Given the description of an element on the screen output the (x, y) to click on. 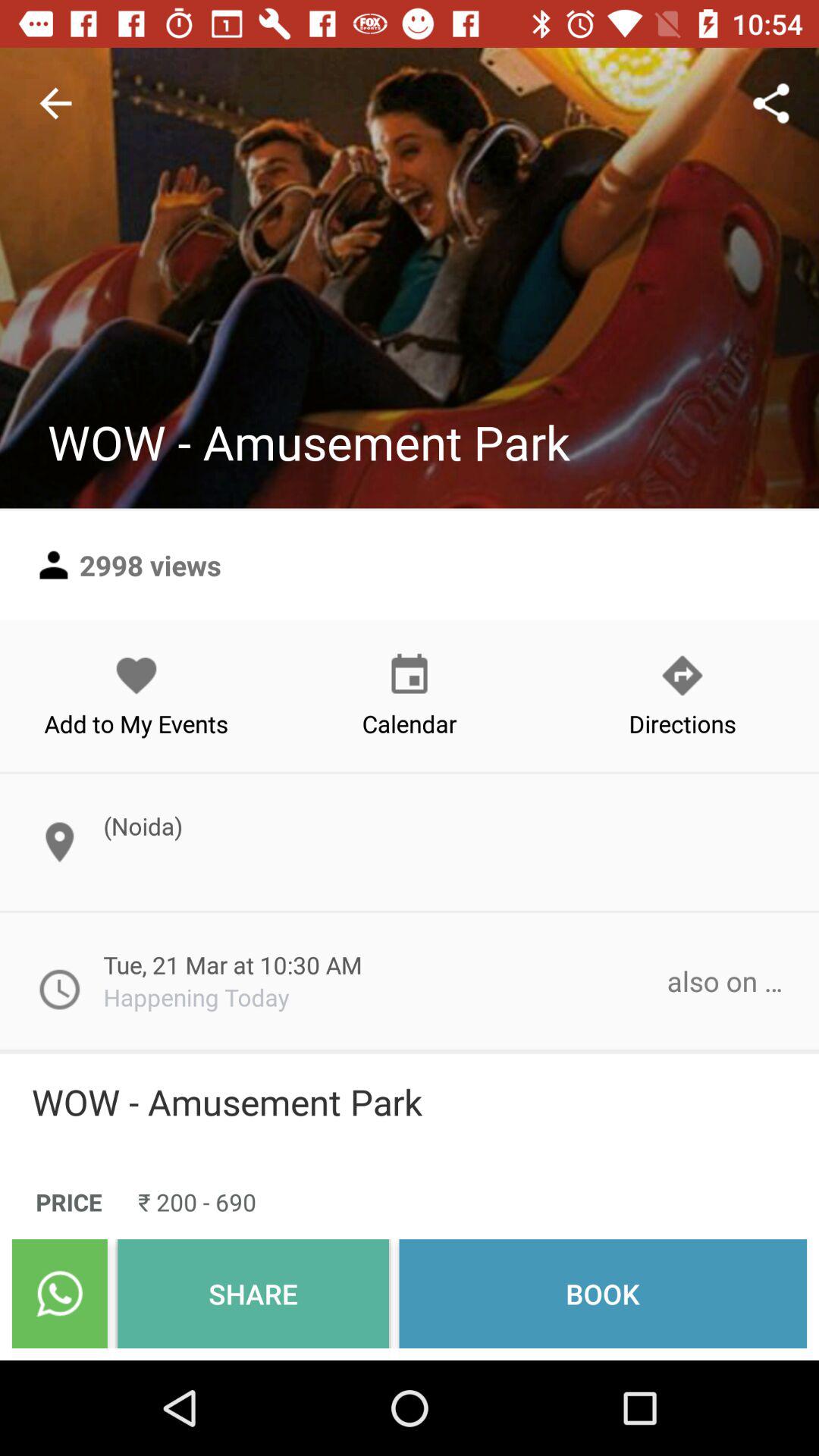
open the icon to the left of directions icon (409, 695)
